Given the description of an element on the screen output the (x, y) to click on. 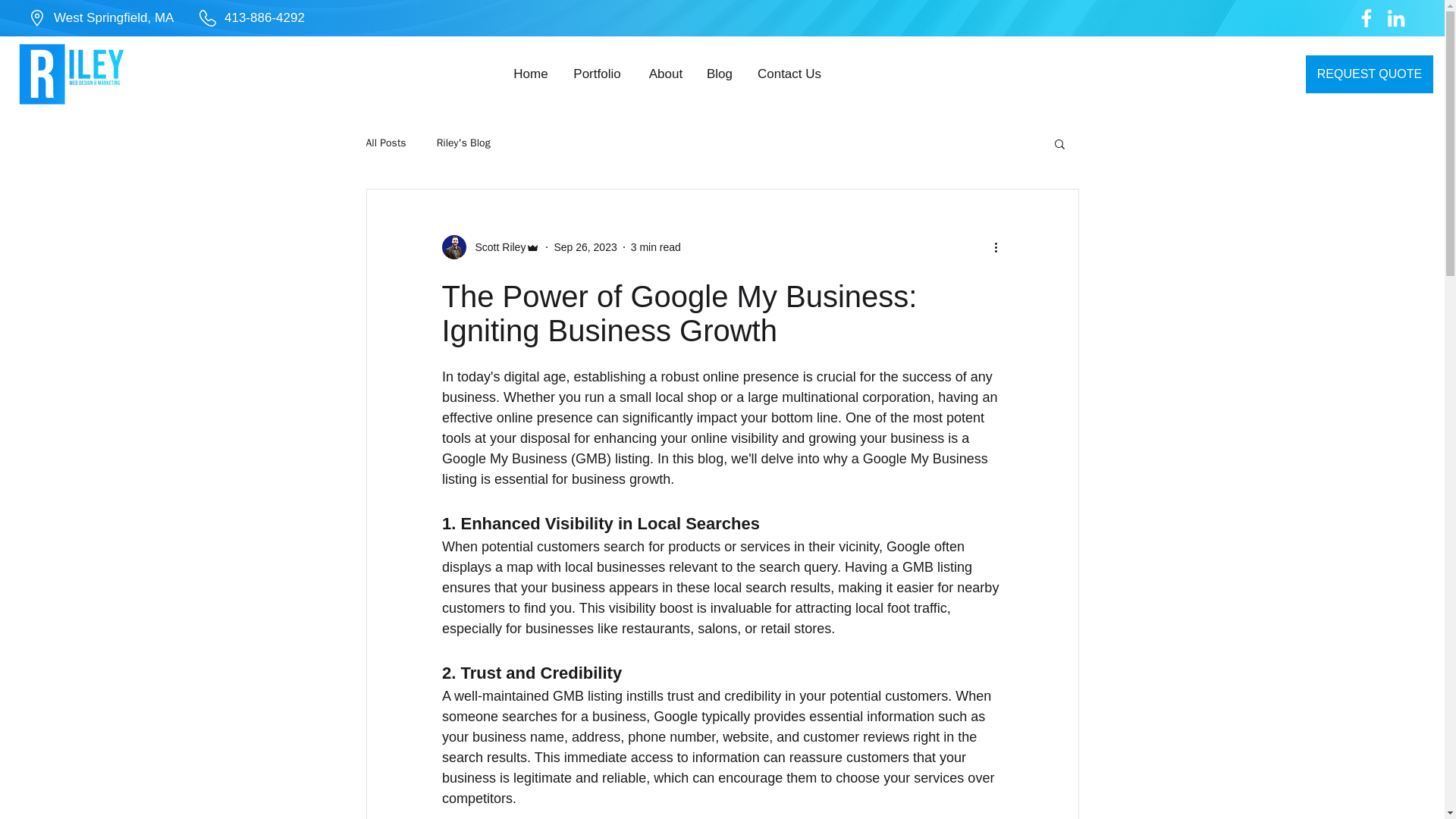
Riley's Blog (463, 142)
REQUEST QUOTE (1369, 74)
Scott Riley (495, 247)
Blog (719, 73)
3 min read (655, 246)
Scott Riley (490, 247)
About (664, 73)
Home (531, 73)
All Posts (385, 142)
Portfolio (595, 73)
